Given the description of an element on the screen output the (x, y) to click on. 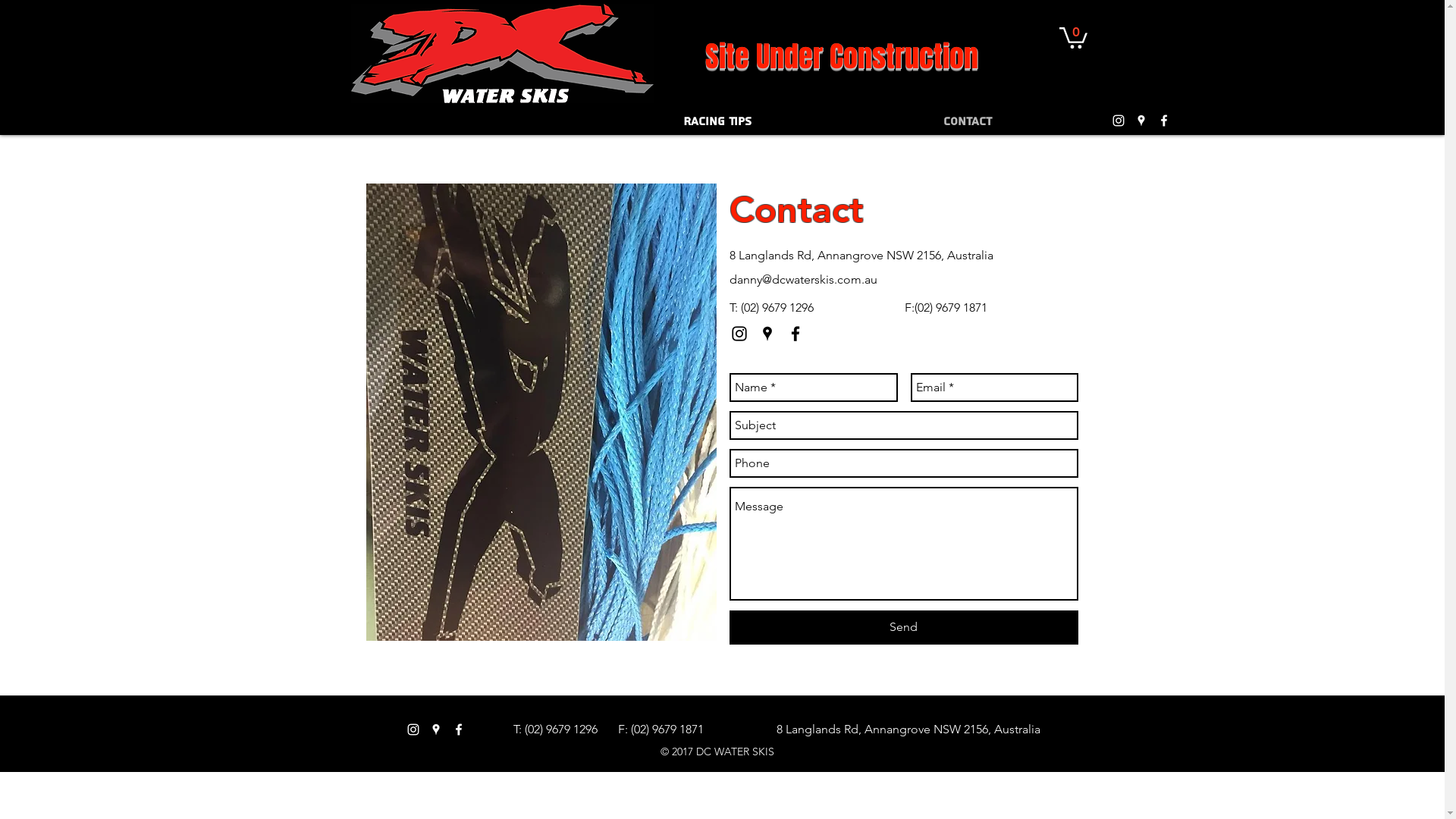
0 Element type: text (1072, 36)
Send Element type: text (903, 627)
Racing Tips Element type: text (716, 121)
Contact Element type: text (967, 121)
danny@dcwaterskis.com.au Element type: text (803, 279)
